Given the description of an element on the screen output the (x, y) to click on. 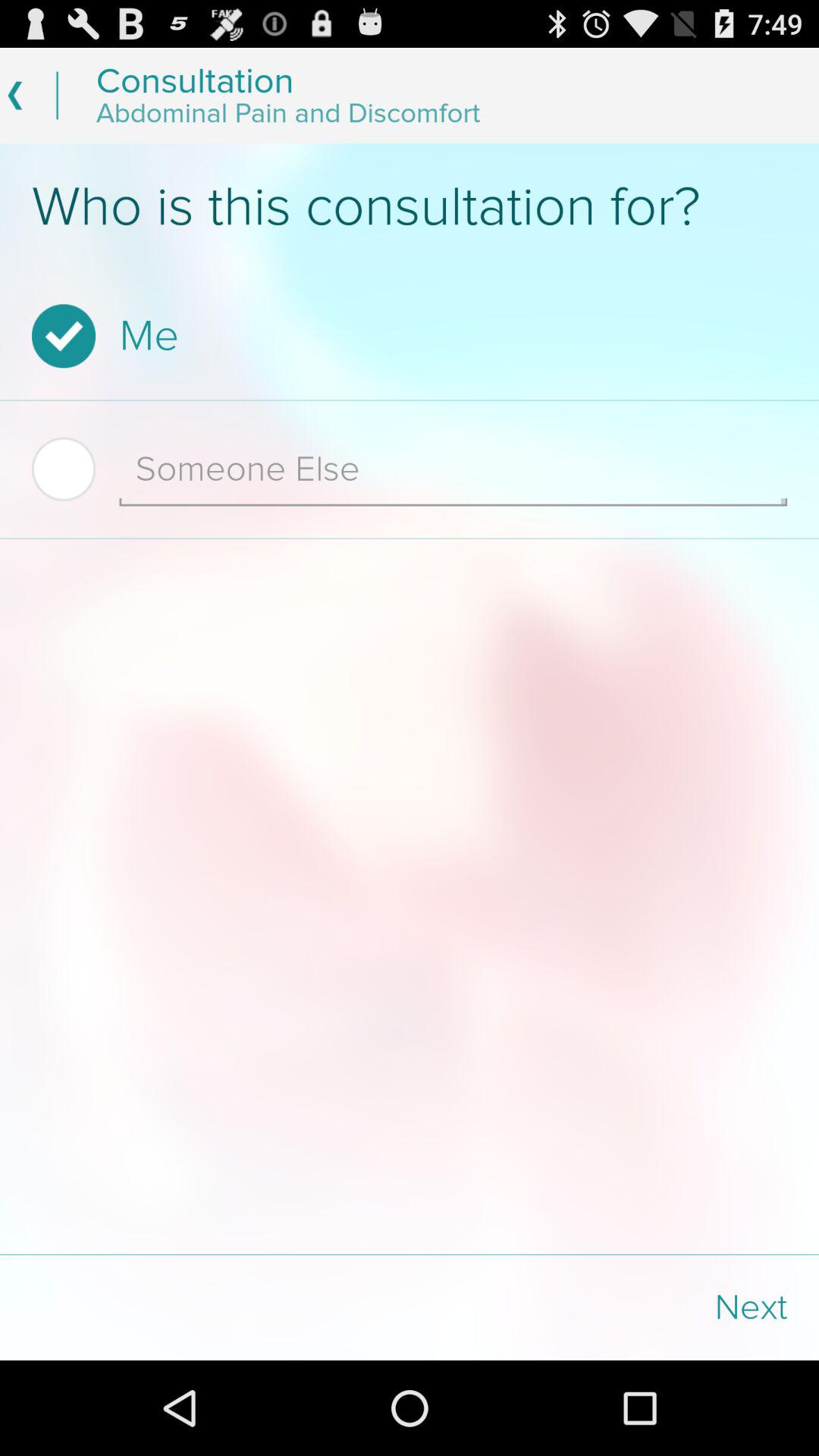
flip to the me item (405, 335)
